Given the description of an element on the screen output the (x, y) to click on. 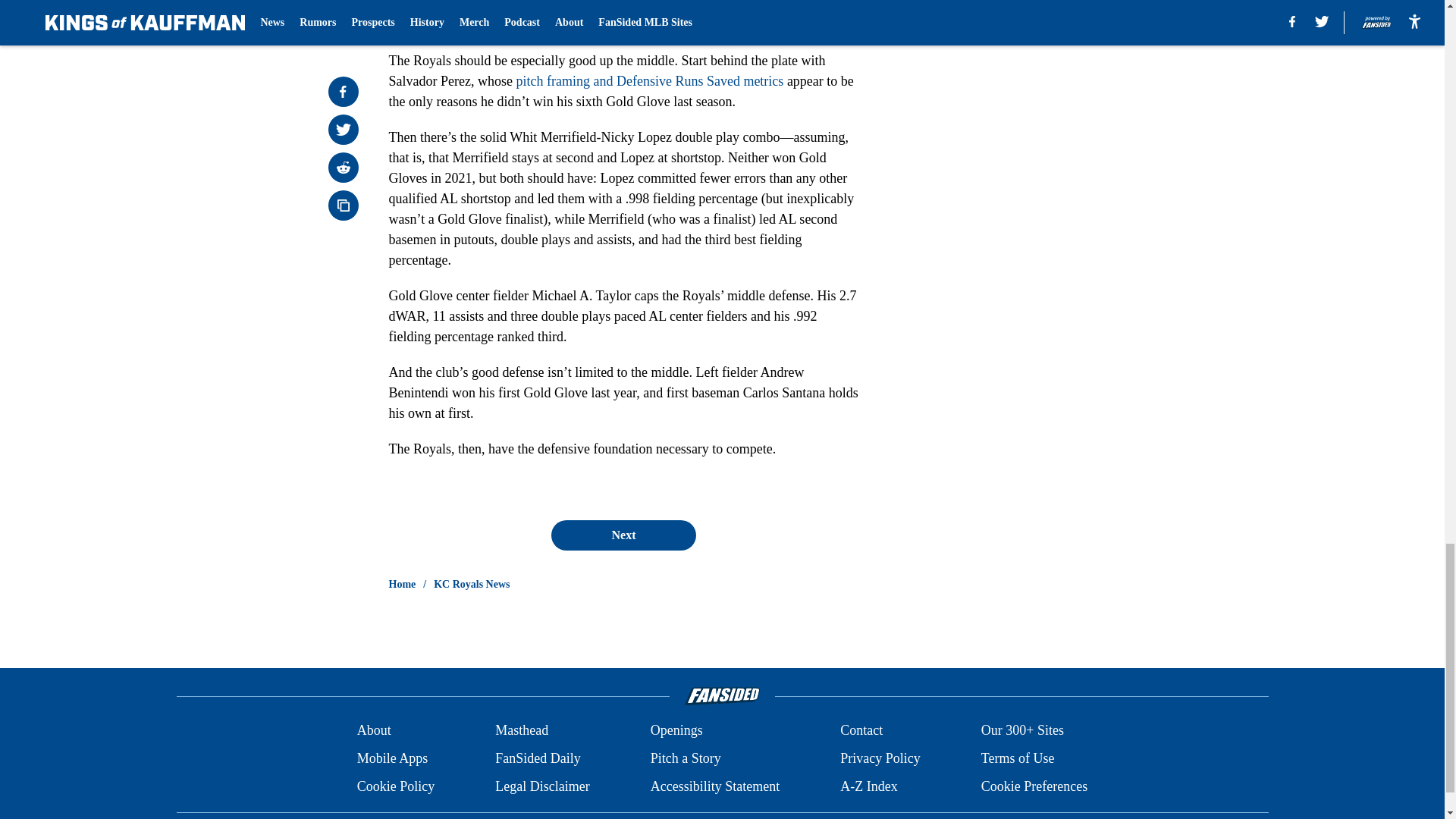
Mobile Apps (392, 758)
About (373, 730)
Terms of Use (1017, 758)
pitch framing and Defensive Runs Saved metrics (649, 80)
Privacy Policy (880, 758)
FanSided Daily (537, 758)
Next (622, 535)
KC Royals News (471, 584)
Openings (676, 730)
Masthead (521, 730)
